Given the description of an element on the screen output the (x, y) to click on. 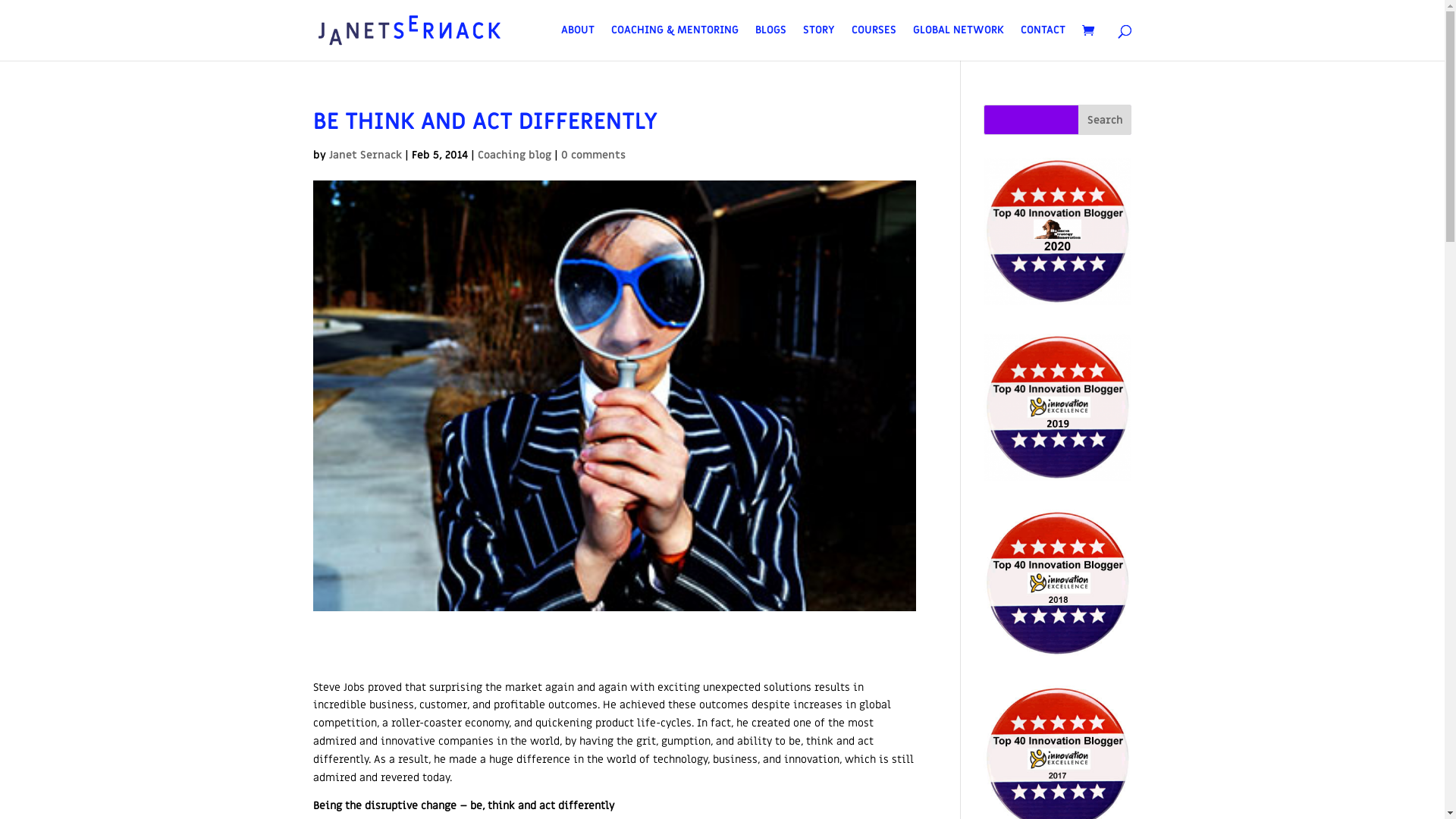
CONTACT Element type: text (1042, 42)
BLOGS Element type: text (770, 42)
COACHING & MENTORING Element type: text (674, 36)
Coaching blog Element type: text (514, 154)
0 comments Element type: text (593, 154)
COURSES Element type: text (872, 36)
STORY Element type: text (818, 42)
GLOBAL NETWORK Element type: text (958, 42)
Janet Sernack Element type: text (365, 154)
ABOUT Element type: text (577, 36)
Search Element type: text (1104, 119)
